Given the description of an element on the screen output the (x, y) to click on. 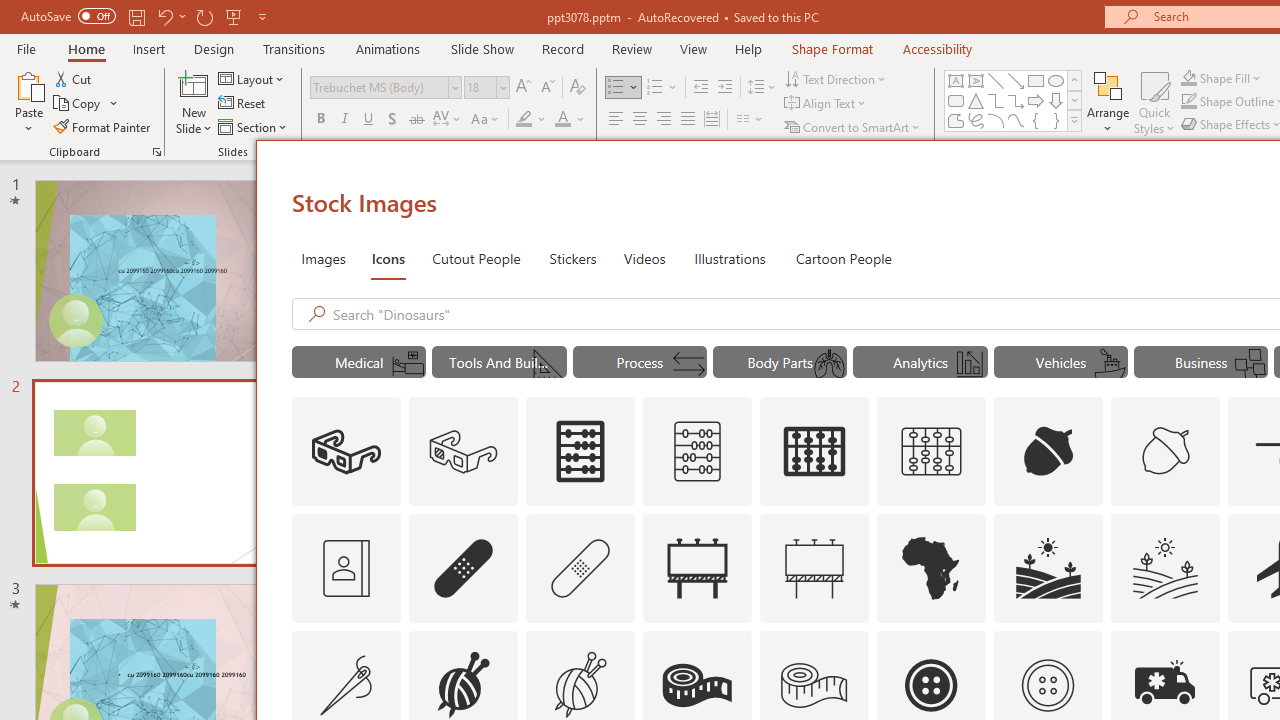
"Business" Icons. (1201, 362)
AutomationID: Icons_BarGraphUpwardTrend_RTL_M (970, 364)
AutomationID: Icons_AddressBook_RTL_M (346, 568)
AutomationID: Icons_Advertising (697, 568)
AutomationID: Icons (1047, 685)
